Given the description of an element on the screen output the (x, y) to click on. 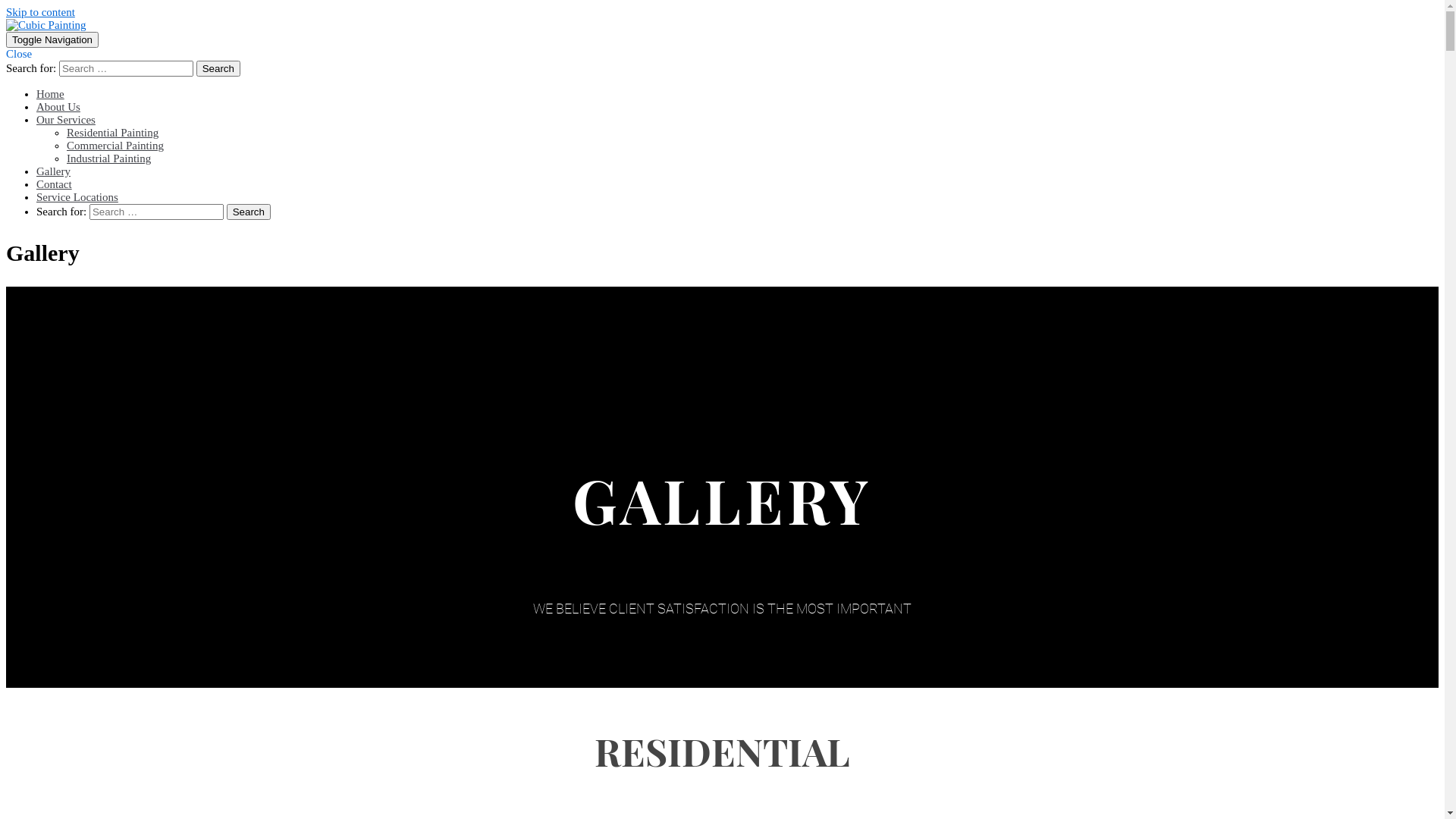
Toggle Navigation Element type: text (52, 39)
Residential Painting Element type: text (112, 132)
Contact Element type: text (54, 184)
Commercial Painting Element type: text (114, 145)
Skip to content Element type: text (40, 12)
Service Locations Element type: text (77, 197)
Close Element type: text (18, 53)
Gallery Element type: text (53, 171)
Home Element type: text (50, 93)
Our Services Element type: text (471, 119)
Search Element type: text (218, 68)
About Us Element type: text (58, 106)
Search Element type: text (248, 211)
Industrial Painting Element type: text (108, 158)
Cubic Painting  Element type: hover (46, 24)
